Given the description of an element on the screen output the (x, y) to click on. 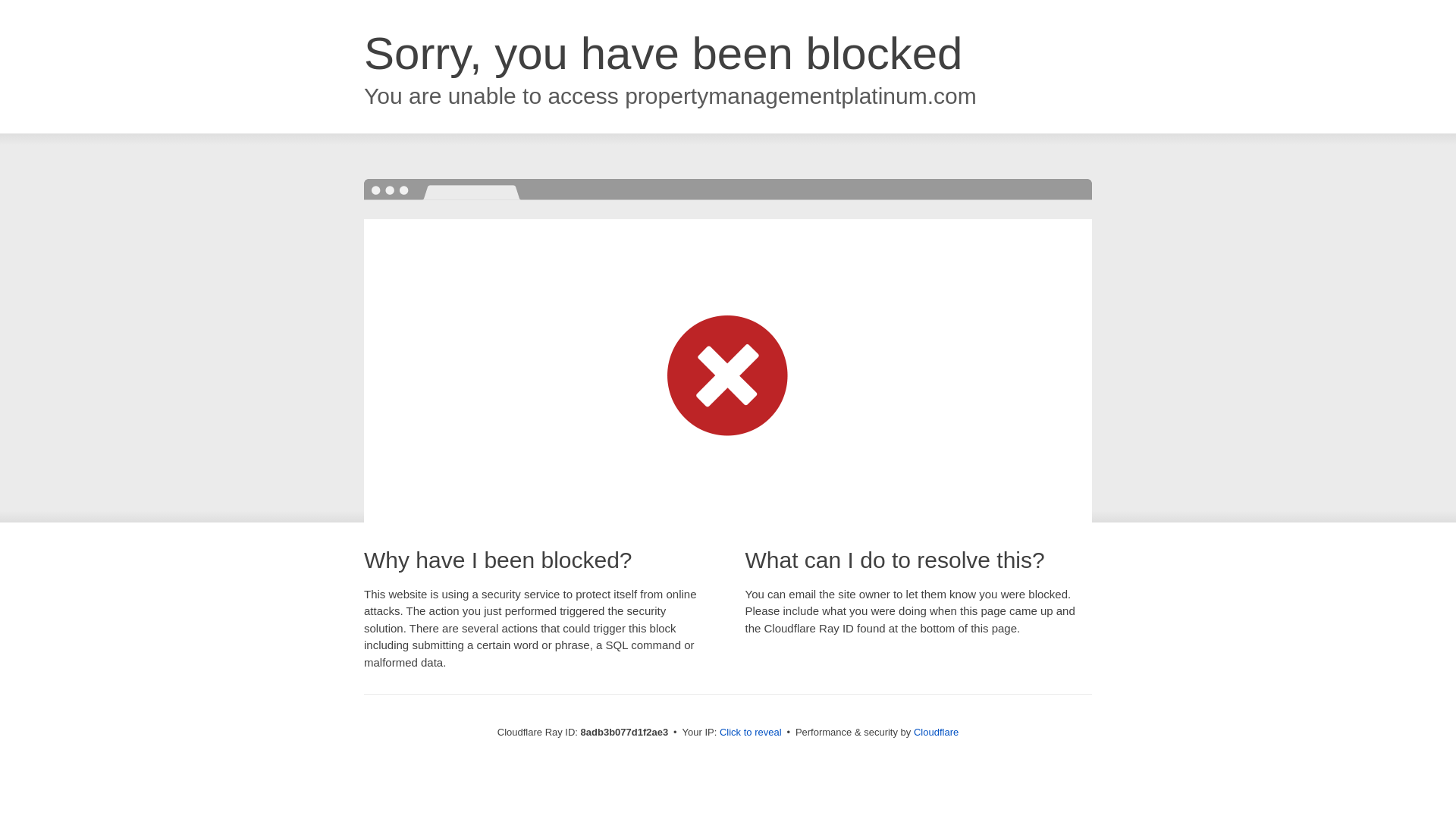
Cloudflare (936, 731)
Click to reveal (750, 732)
